Given the description of an element on the screen output the (x, y) to click on. 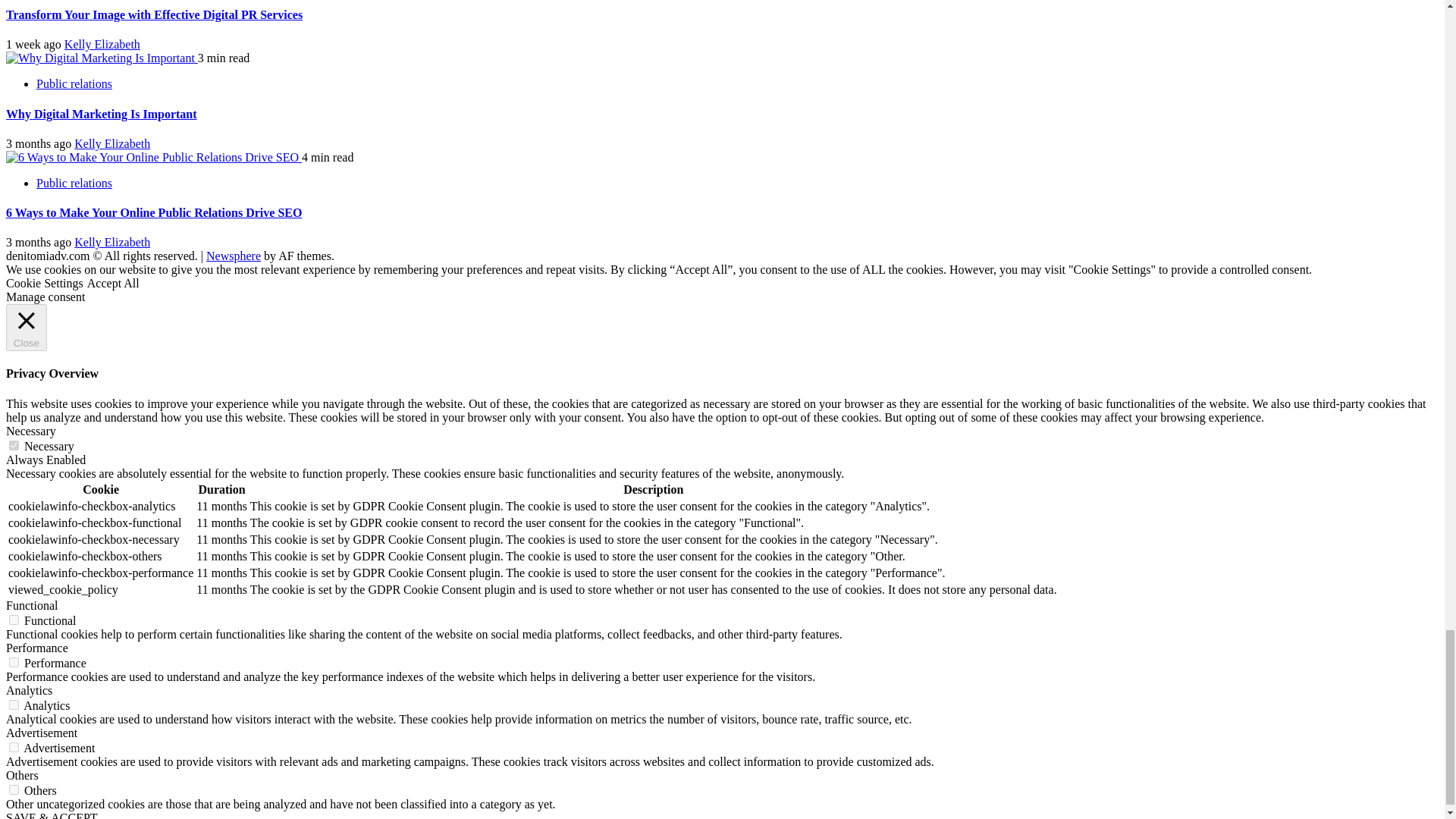
on (13, 662)
on (13, 445)
on (13, 747)
Why Digital Marketing Is Important (100, 58)
on (13, 619)
on (13, 705)
6 Ways to Make Your Online Public Relations Drive SEO (151, 157)
on (13, 789)
